Given the description of an element on the screen output the (x, y) to click on. 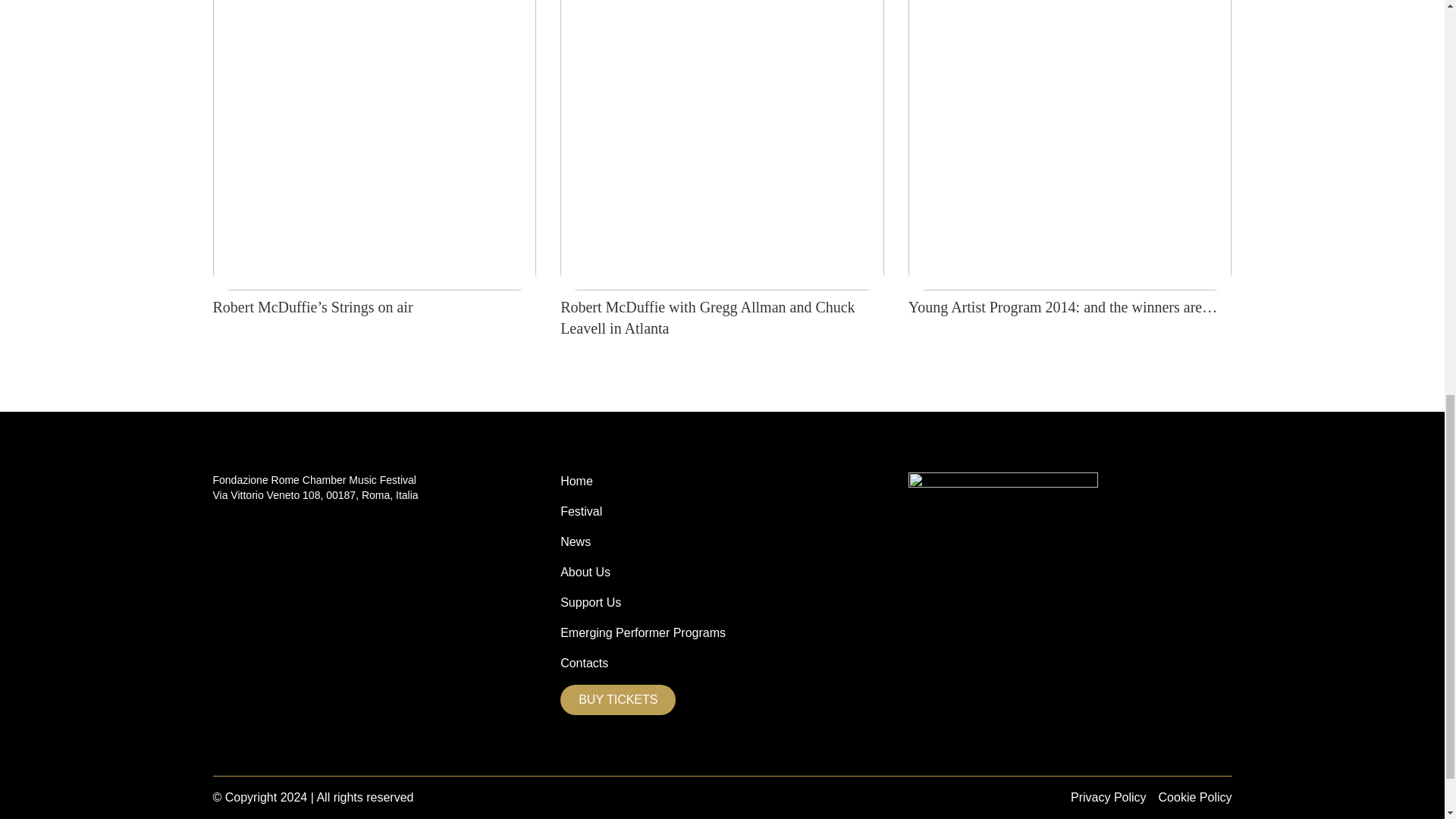
Emerging Performer Programs (642, 632)
Support Us (590, 602)
Home (576, 481)
Festival (581, 511)
BUY TICKETS (617, 699)
Cookie Policy (1194, 797)
News (575, 541)
Privacy Policy (1108, 797)
About Us (585, 571)
